Given the description of an element on the screen output the (x, y) to click on. 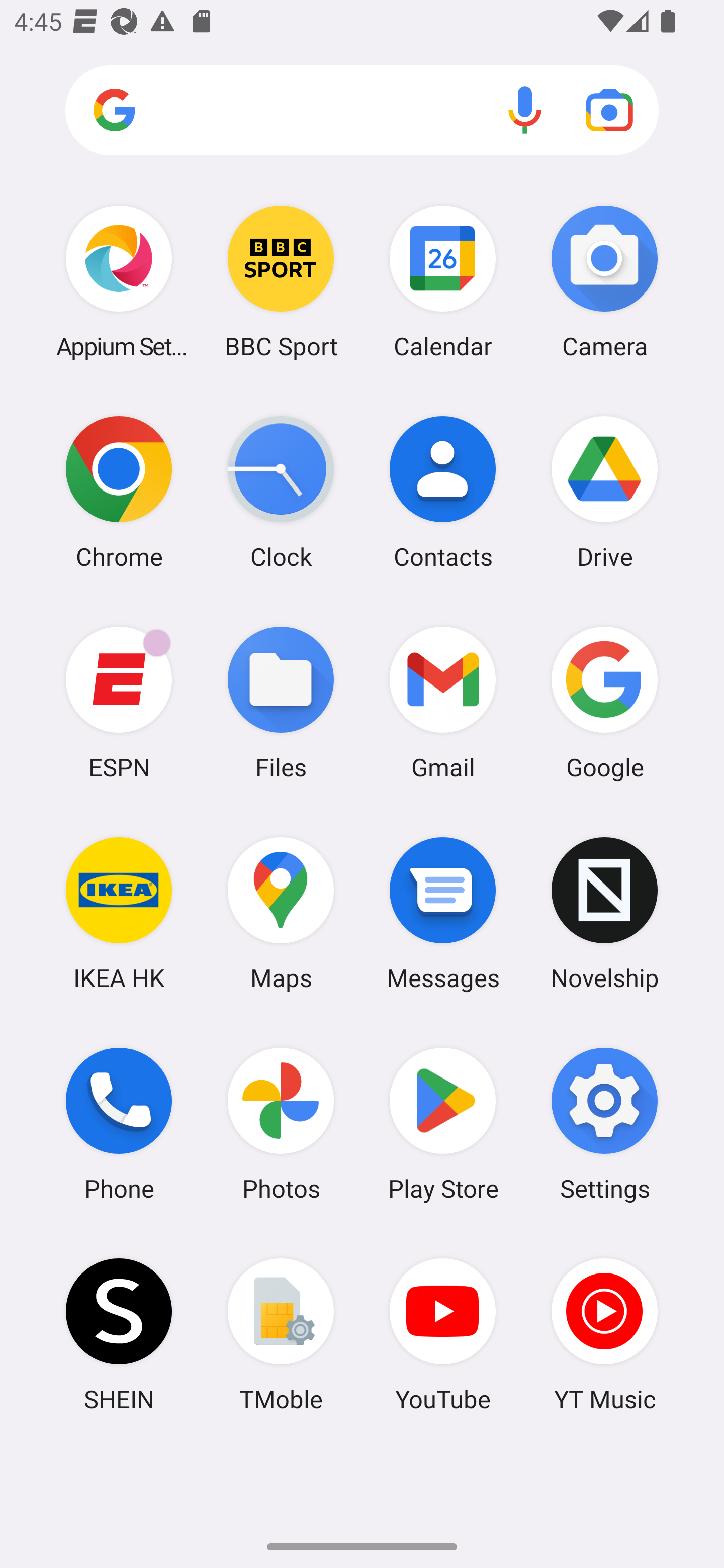
Search apps, web and more (361, 110)
Voice search (524, 109)
Google Lens (608, 109)
Appium Settings (118, 281)
BBC Sport (280, 281)
Calendar (443, 281)
Camera (604, 281)
Chrome (118, 492)
Clock (280, 492)
Contacts (443, 492)
Drive (604, 492)
ESPN ESPN has 1 notification (118, 702)
Files (280, 702)
Gmail (443, 702)
Google (604, 702)
IKEA HK (118, 913)
Maps (280, 913)
Messages (443, 913)
Novelship (604, 913)
Phone (118, 1124)
Photos (280, 1124)
Play Store (443, 1124)
Settings (604, 1124)
SHEIN (118, 1334)
TMoble (280, 1334)
YouTube (443, 1334)
YT Music (604, 1334)
